Given the description of an element on the screen output the (x, y) to click on. 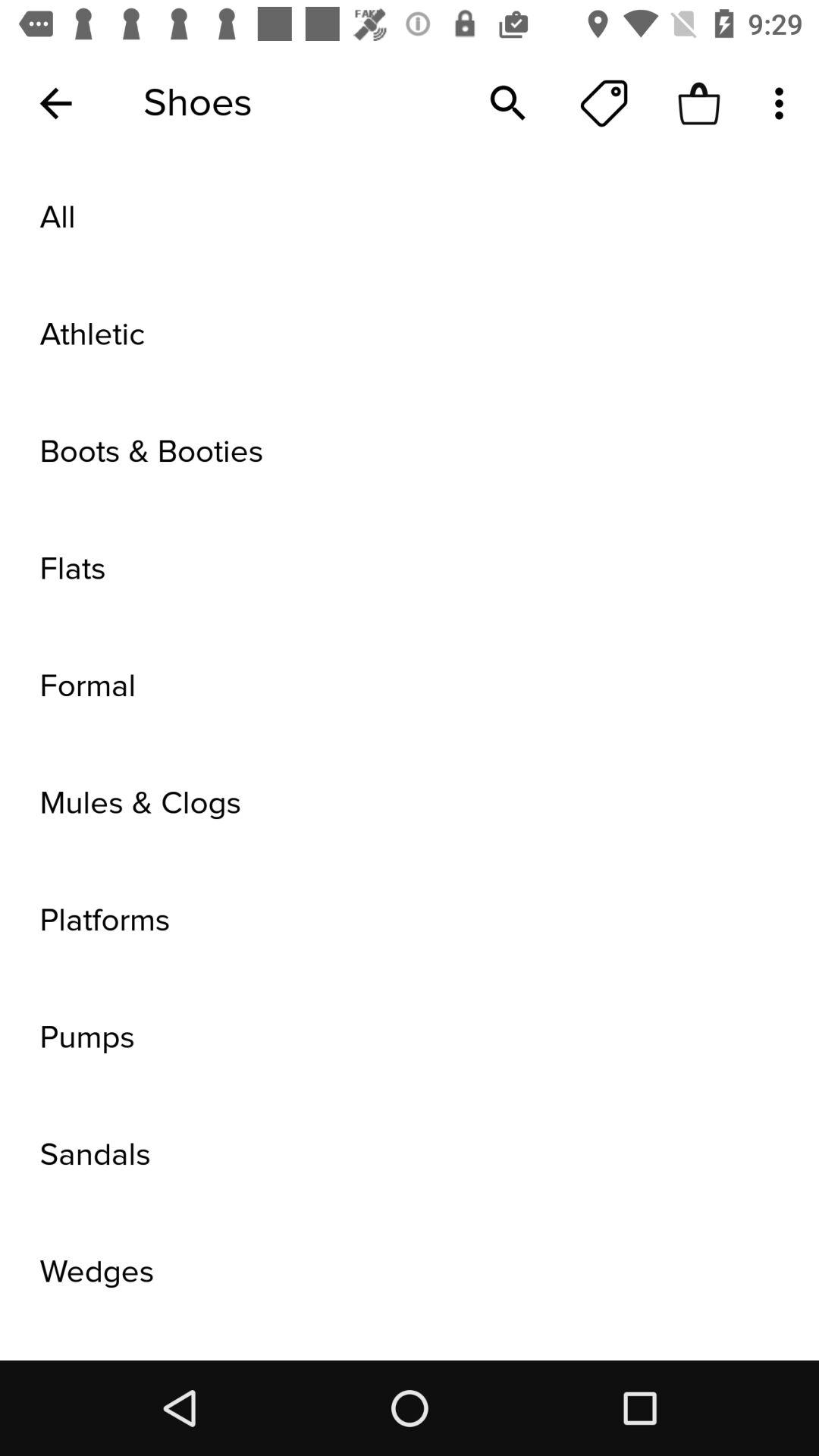
choose icon to the left of the shoes (55, 103)
